Given the description of an element on the screen output the (x, y) to click on. 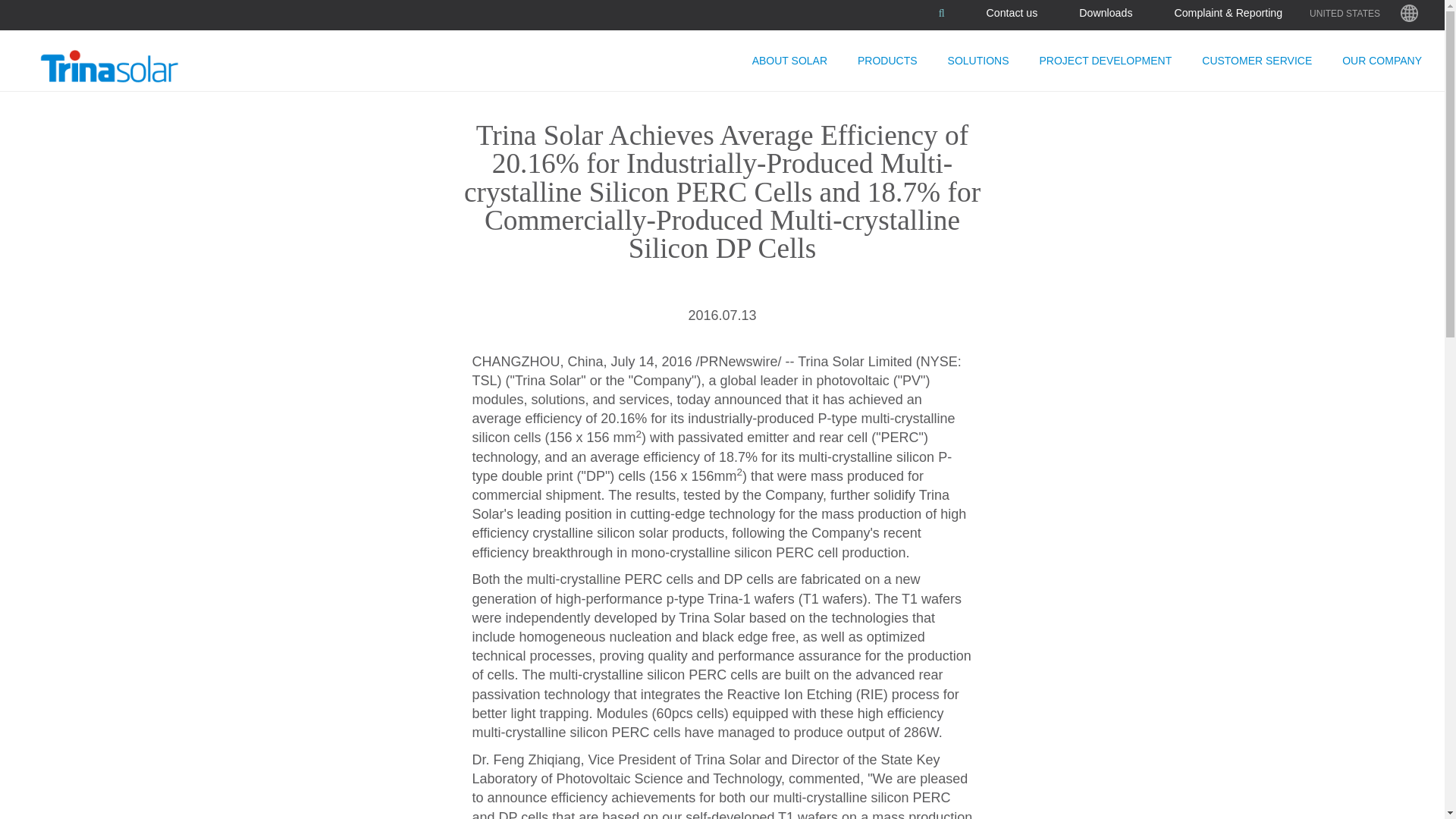
Trina Solar (127, 67)
OUR COMPANY (1381, 60)
SOLUTIONS (979, 60)
PROJECT DEVELOPMENT (1104, 60)
ABOUT SOLAR (789, 60)
PRODUCTS (888, 60)
CUSTOMER SERVICE (1256, 60)
